Given the description of an element on the screen output the (x, y) to click on. 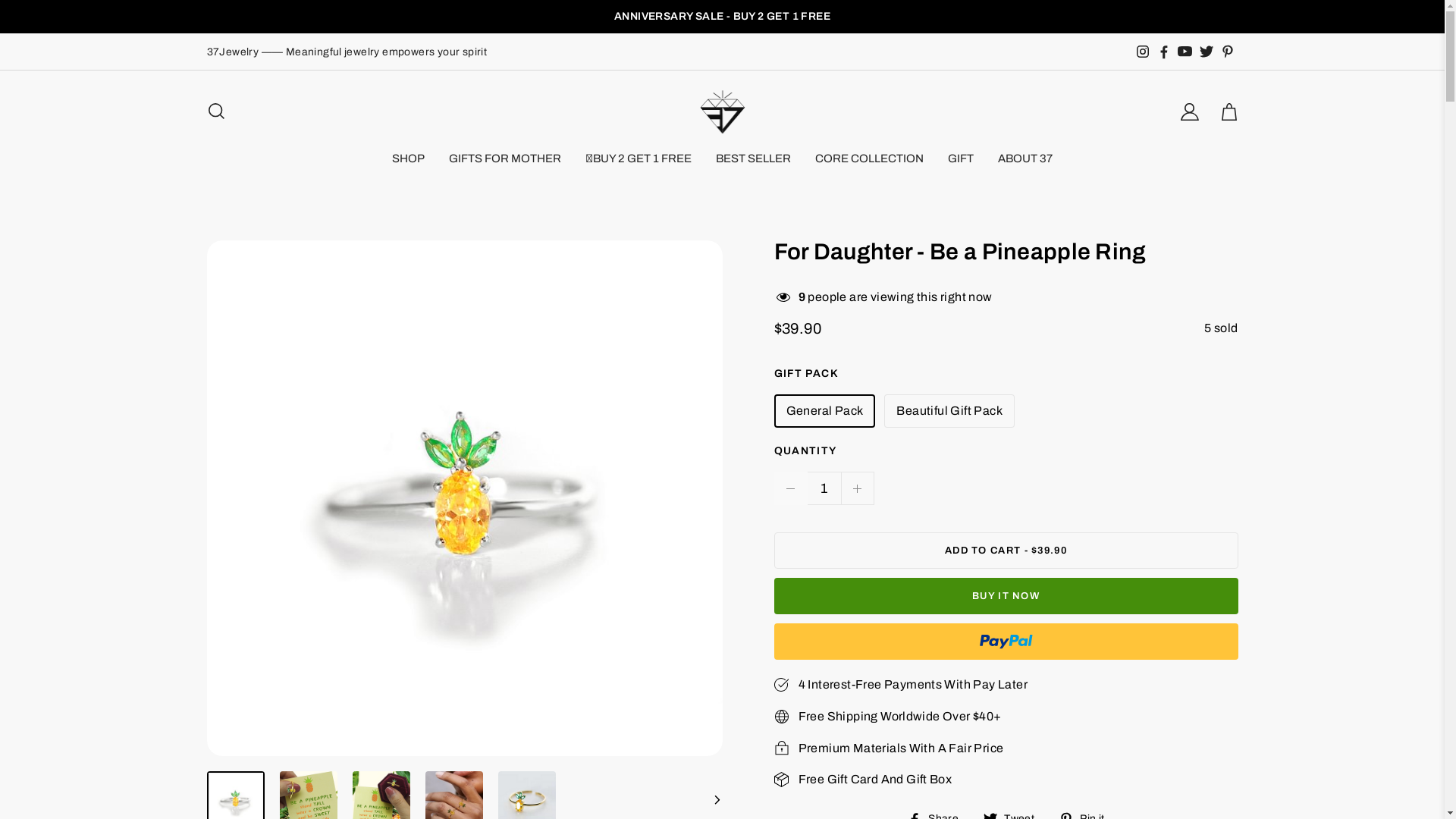
GIFTS FOR MOTHER Element type: text (504, 158)
PayPal Element type: hover (1005, 641)
ABOUT 37 Element type: text (1024, 158)
ADD TO CART - $39.90 Element type: text (1005, 550)
BEST SELLER Element type: text (752, 158)
BUY IT NOW Element type: text (1005, 595)
GIFT Element type: text (960, 158)
SHOP Element type: text (408, 158)
CORE COLLECTION Element type: text (869, 158)
